Given the description of an element on the screen output the (x, y) to click on. 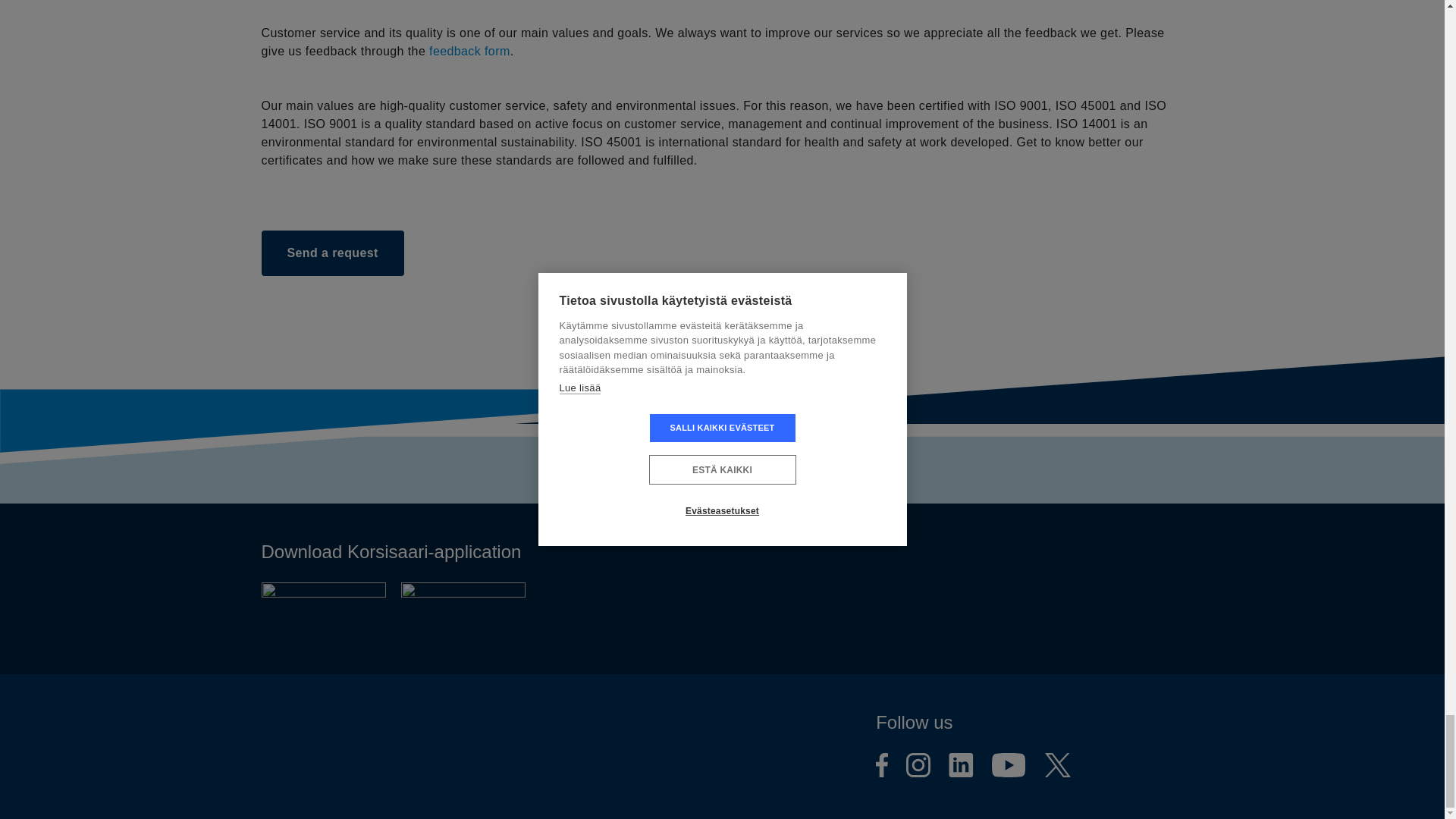
Youtube (1008, 767)
X (1057, 767)
